Given the description of an element on the screen output the (x, y) to click on. 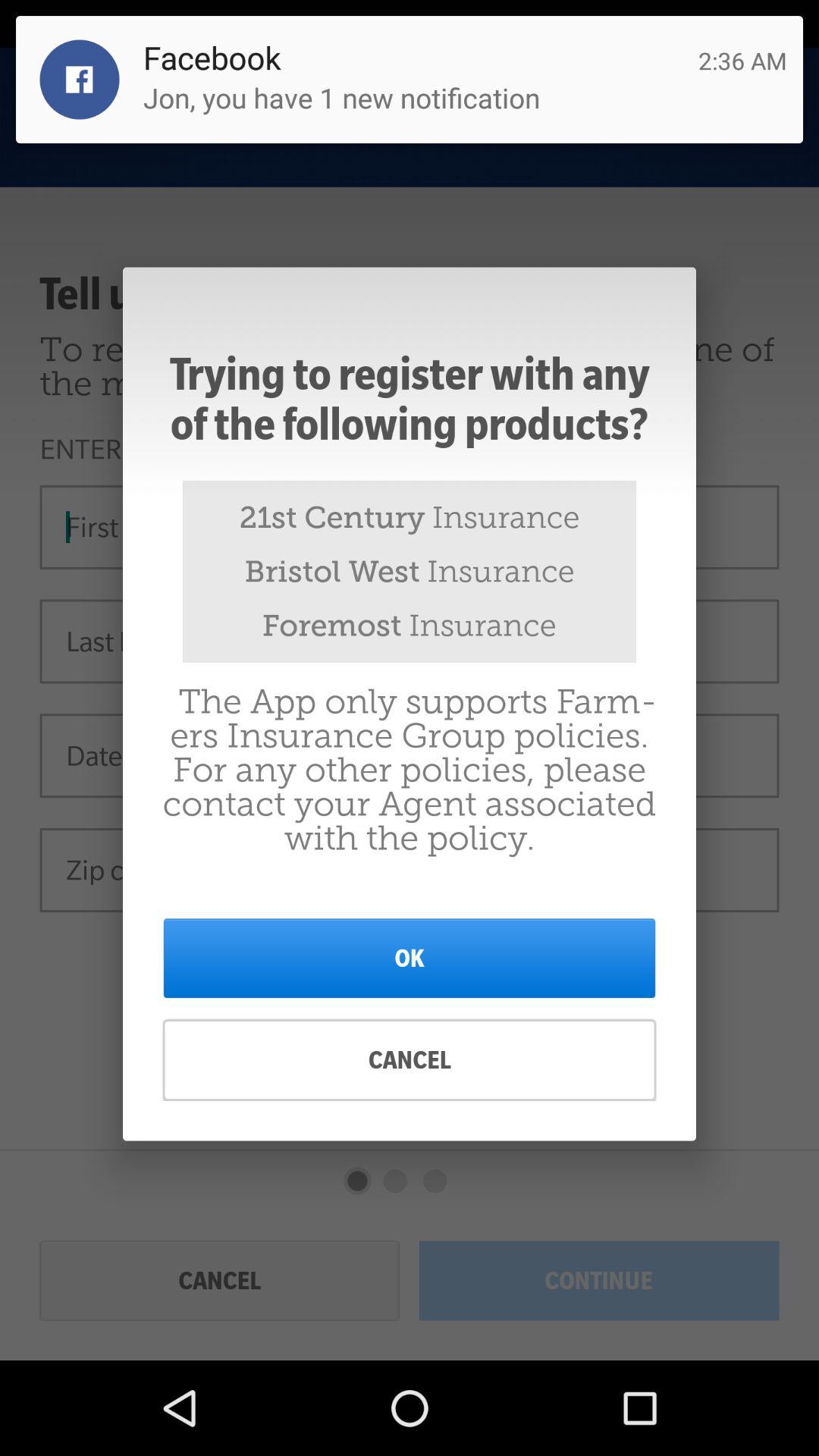
turn on the ok item (409, 958)
